Given the description of an element on the screen output the (x, y) to click on. 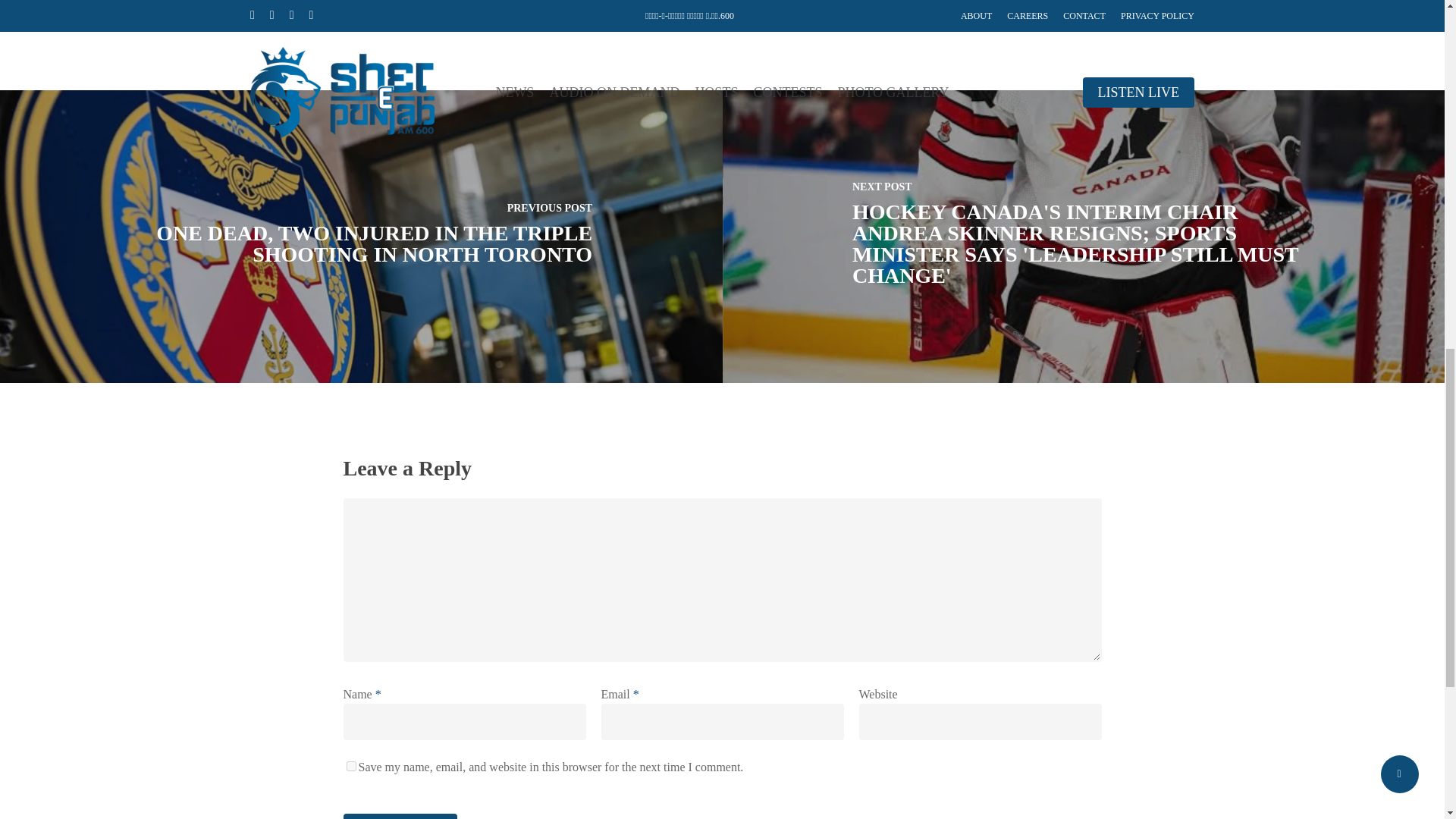
Submit Comment (399, 816)
Submit Comment (399, 816)
yes (350, 766)
